Given the description of an element on the screen output the (x, y) to click on. 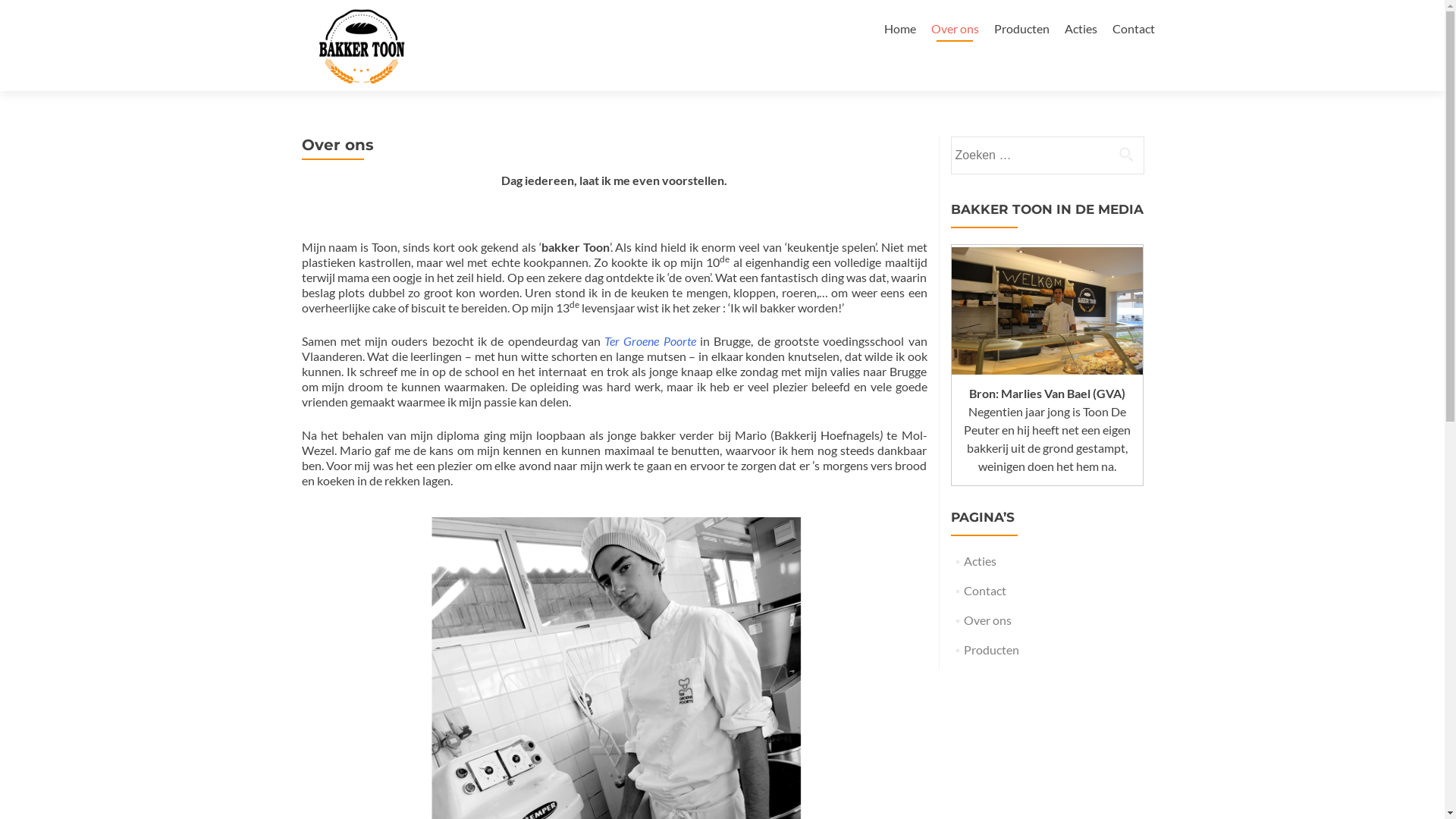
Over ons Element type: text (955, 28)
 Tweet Google+ Mail 19-jarige Toon opent eigen bakkerszaak Element type: hover (1046, 310)
Bakker Toon Element type: hover (362, 28)
Home Element type: text (900, 28)
Over ons Element type: text (987, 619)
Acties Element type: text (1080, 28)
Producten Element type: text (991, 649)
Zoeken Element type: text (1125, 153)
Ter Groene Poorte Element type: text (651, 340)
Acties Element type: text (979, 560)
Contact Element type: text (984, 590)
Contact Element type: text (1132, 28)
Producten Element type: text (1020, 28)
